Given the description of an element on the screen output the (x, y) to click on. 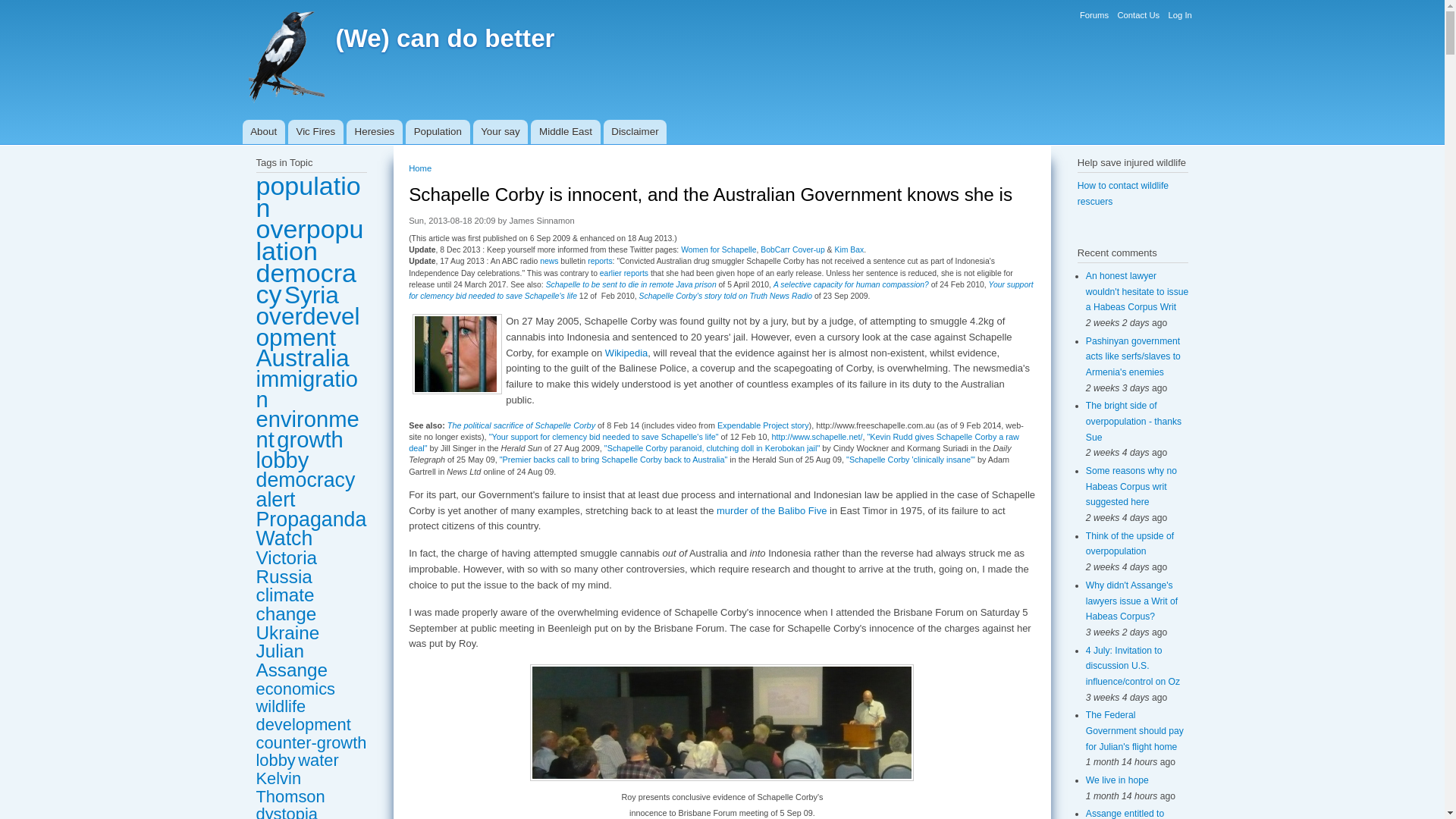
Forums (1094, 14)
story (799, 424)
About candobetter.org, including "What you can do" (264, 131)
BobCarr Cover-up (792, 249)
Heresies (374, 131)
reports (635, 273)
earlier (610, 273)
Log In (1179, 14)
Victorian bushfires (315, 131)
Wikipedia (626, 352)
Your say (500, 131)
"Schapelle Corby 'clinically insane'" (910, 459)
